Given the description of an element on the screen output the (x, y) to click on. 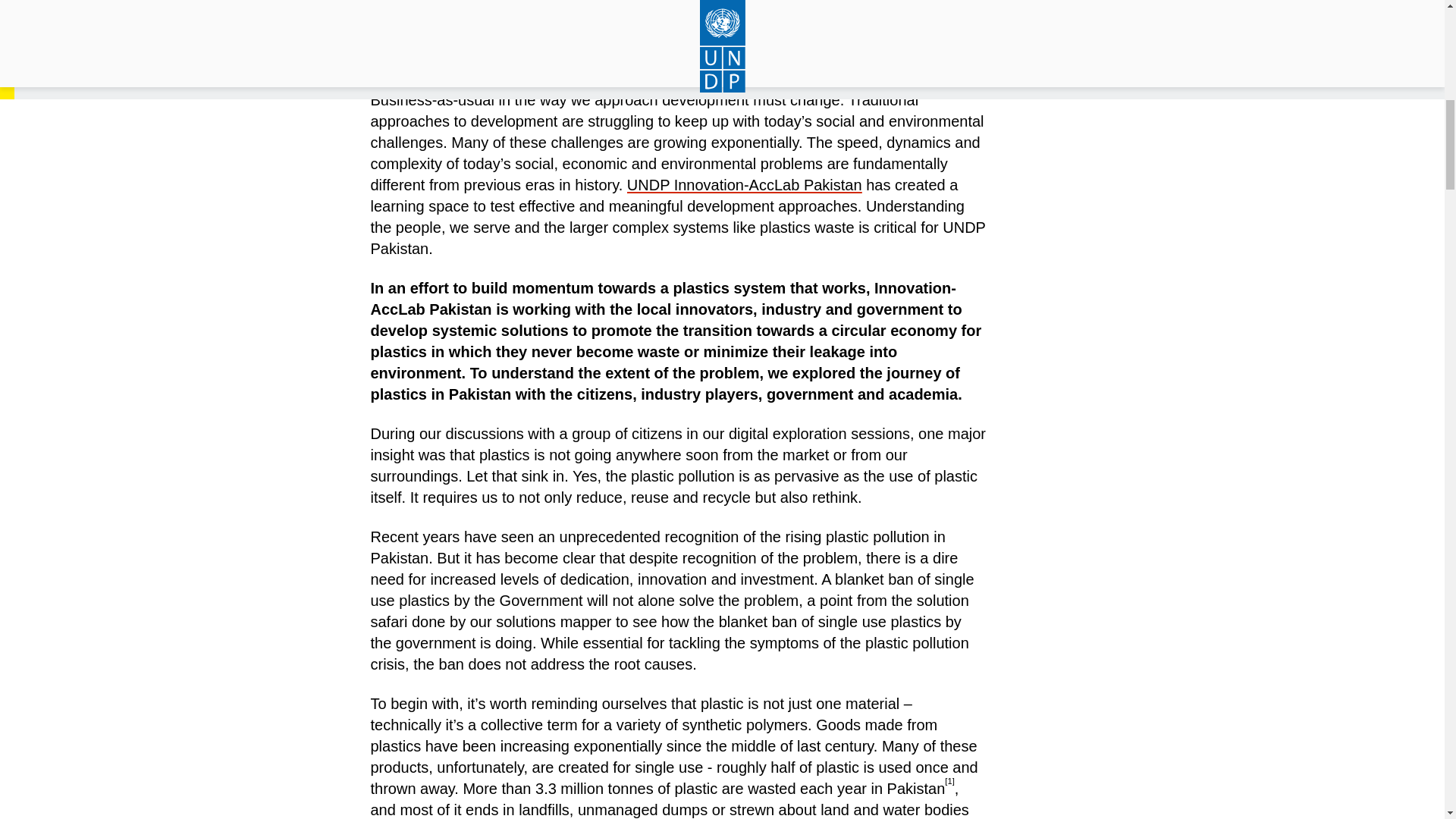
UNDP Innovation-AccLab Pakistan (744, 184)
